Given the description of an element on the screen output the (x, y) to click on. 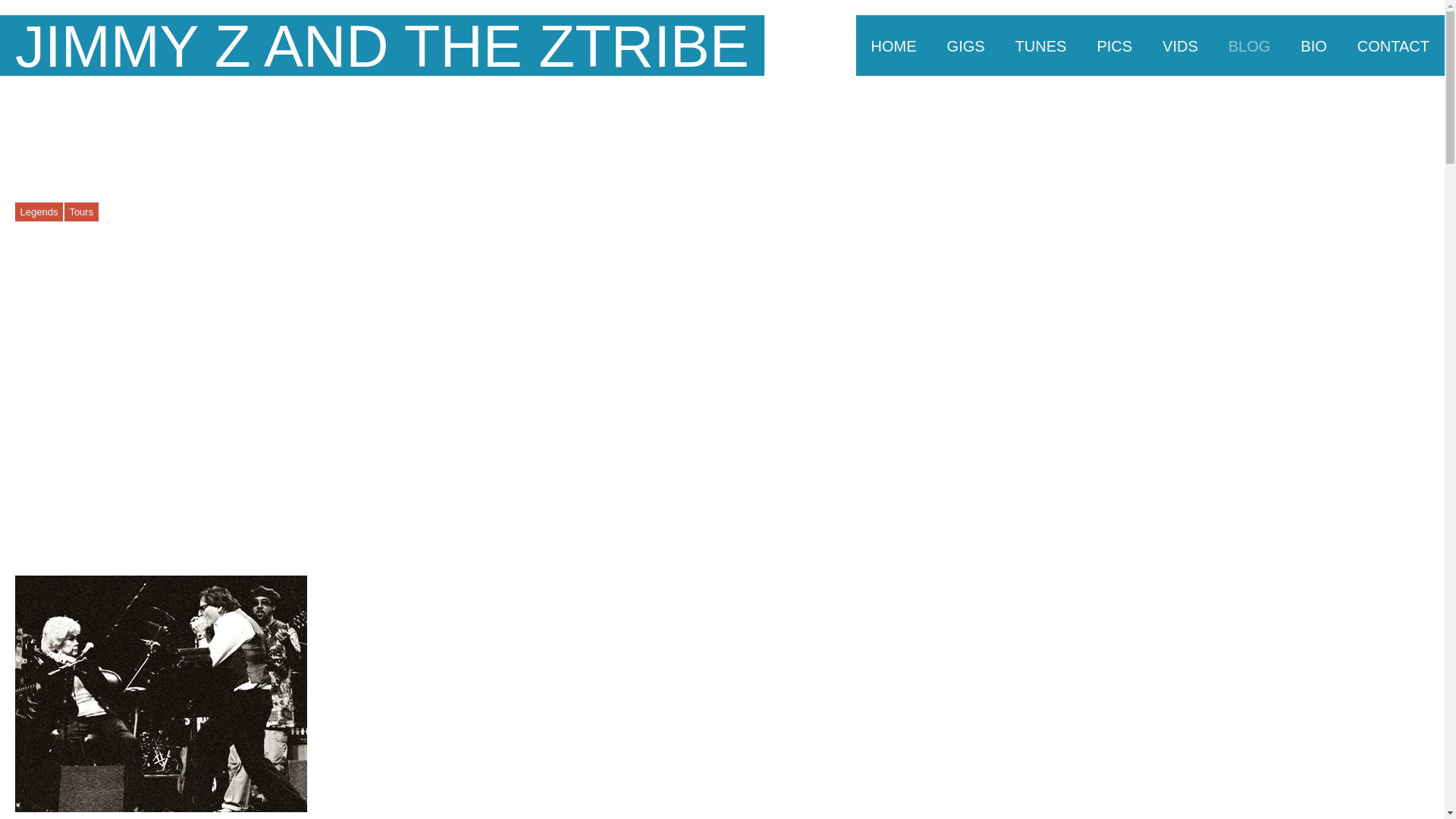
BLOG (1248, 45)
GIGS (965, 45)
Tours (81, 211)
HOME (893, 45)
Search ... (1415, 115)
18 comments (248, 211)
PICS (1114, 45)
Jimmy Z and the ZTribe (382, 45)
Legends (38, 211)
Search ... (1415, 115)
Posts by Jimmy Z (122, 211)
YouTube (1378, 115)
TUNES (1040, 45)
VIDS (1179, 45)
Facebook (1351, 115)
